Given the description of an element on the screen output the (x, y) to click on. 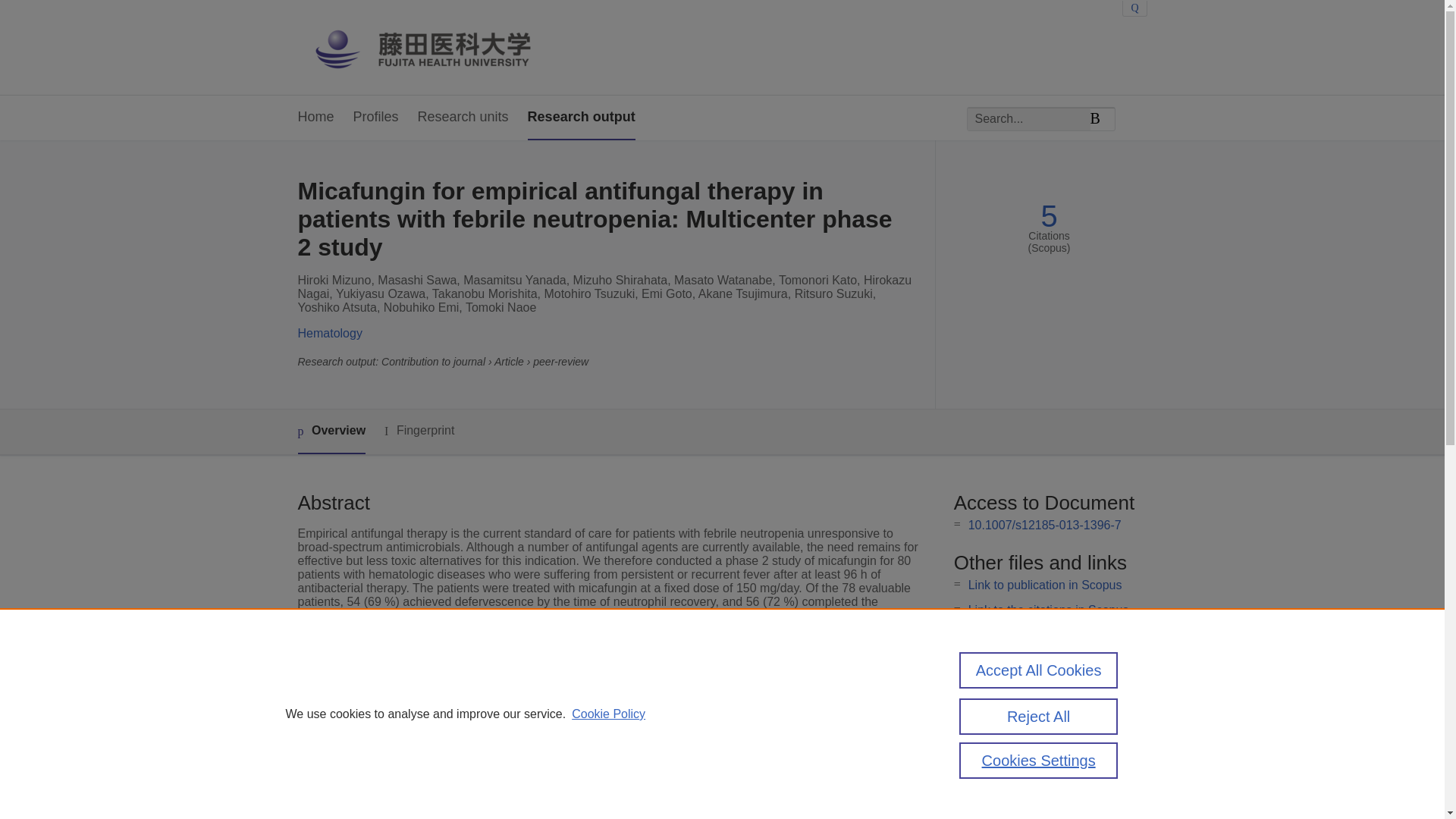
Profiles (375, 117)
Link to publication in Scopus (1045, 584)
Fingerprint (419, 430)
Research units (462, 117)
Hematology (329, 332)
Link to the citations in Scopus (1048, 609)
Fujita Health University Home (437, 47)
Overview (331, 431)
Accept All Cookies (1038, 669)
